Given the description of an element on the screen output the (x, y) to click on. 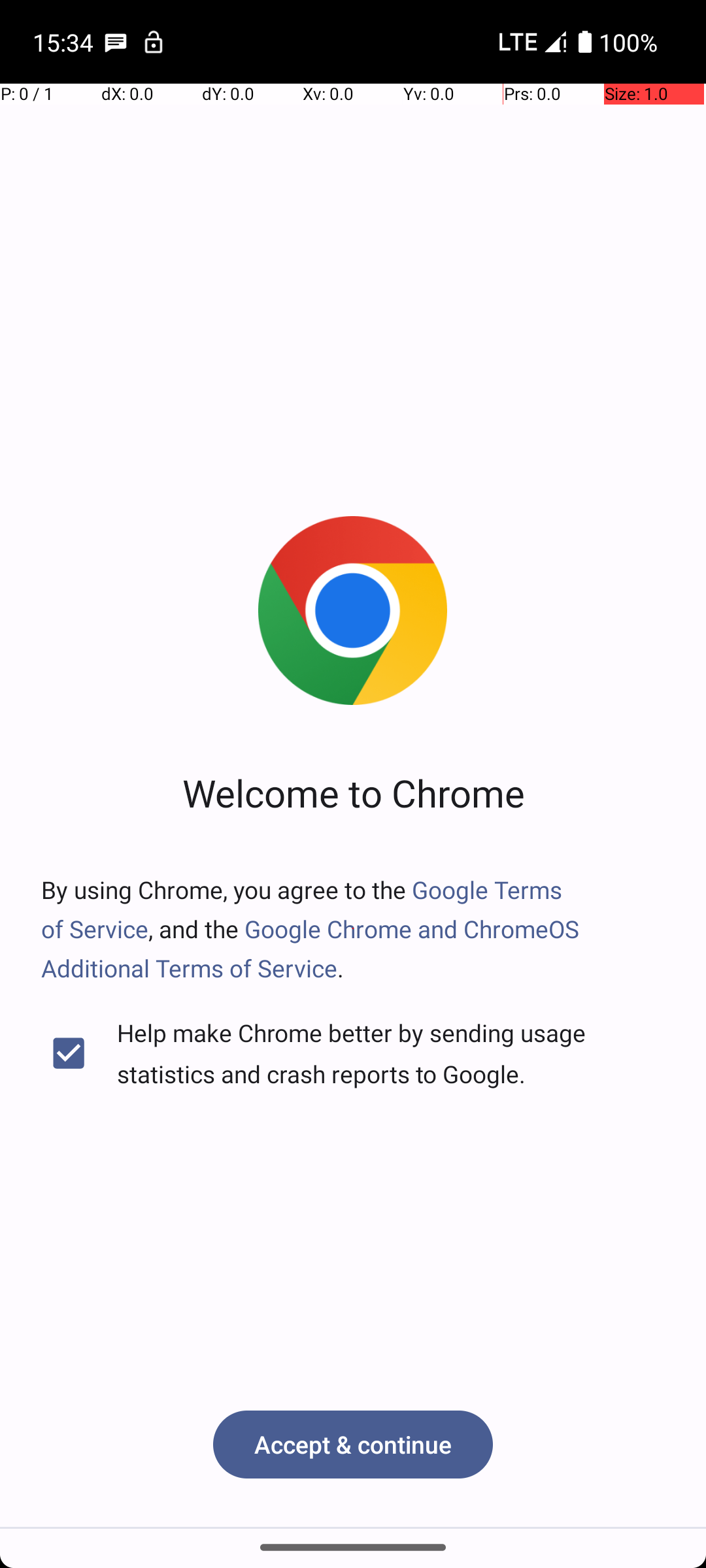
Tasks notification: Connection security Element type: android.widget.ImageView (153, 41)
